Given the description of an element on the screen output the (x, y) to click on. 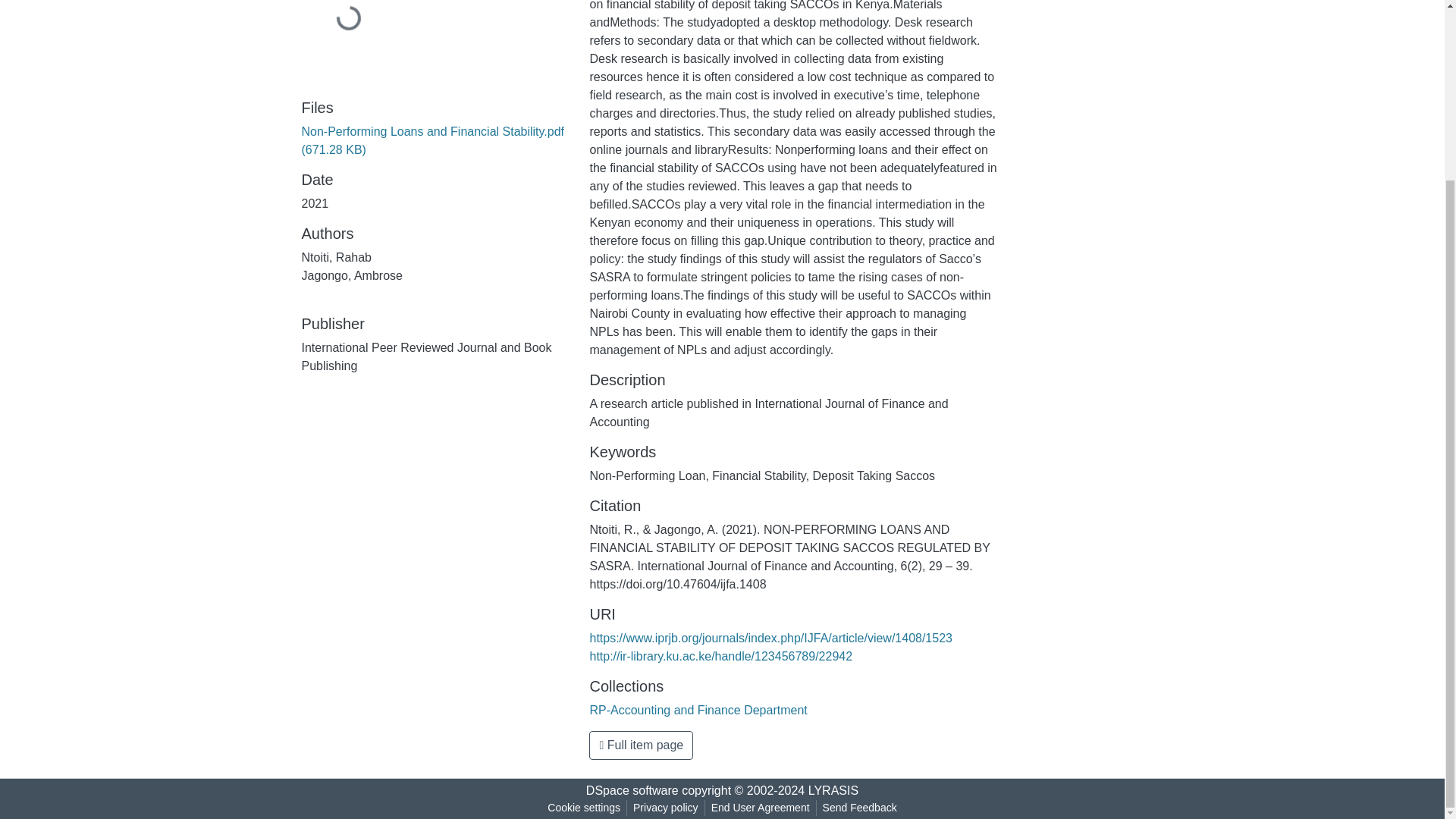
End User Agreement (759, 807)
Privacy policy (665, 807)
LYRASIS (833, 789)
RP-Accounting and Finance Department (697, 709)
Full item page (641, 745)
Send Feedback (859, 807)
Cookie settings (583, 807)
DSpace software (632, 789)
